Given the description of an element on the screen output the (x, y) to click on. 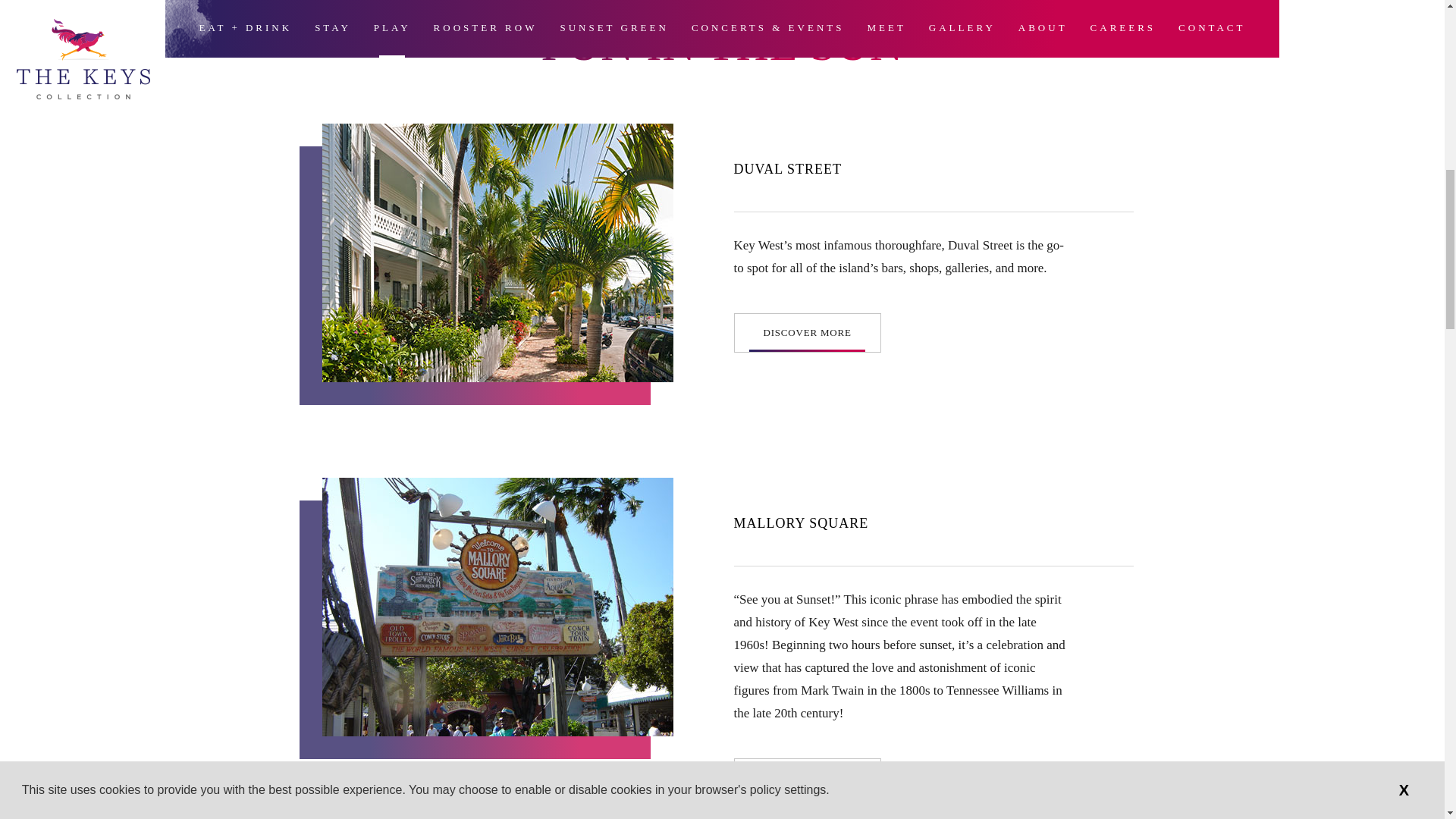
Discover More (806, 777)
Discover More (806, 332)
DISCOVER MORE (806, 332)
DUVAL STREET (788, 168)
MALLORY SQUARE (801, 522)
DISCOVER MORE (806, 777)
